Given the description of an element on the screen output the (x, y) to click on. 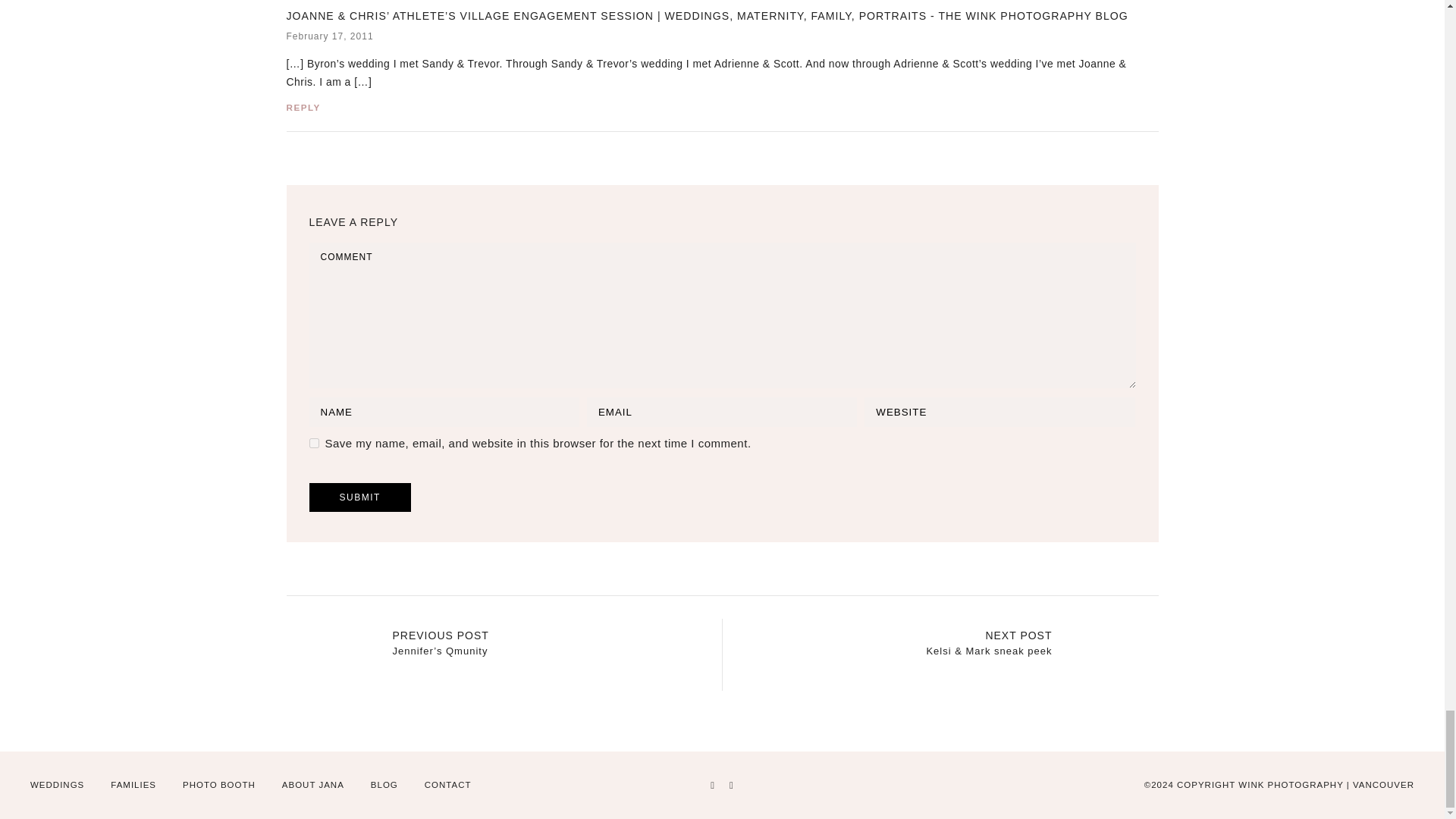
NEXT POST (1018, 634)
CONTACT (448, 784)
Submit (359, 497)
PHOTO BOOTH (219, 784)
FAMILIES (132, 784)
REPLY (303, 107)
BLOG (384, 784)
PREVIOUS POST (441, 634)
ABOUT JANA (312, 784)
yes (313, 442)
